Given the description of an element on the screen output the (x, y) to click on. 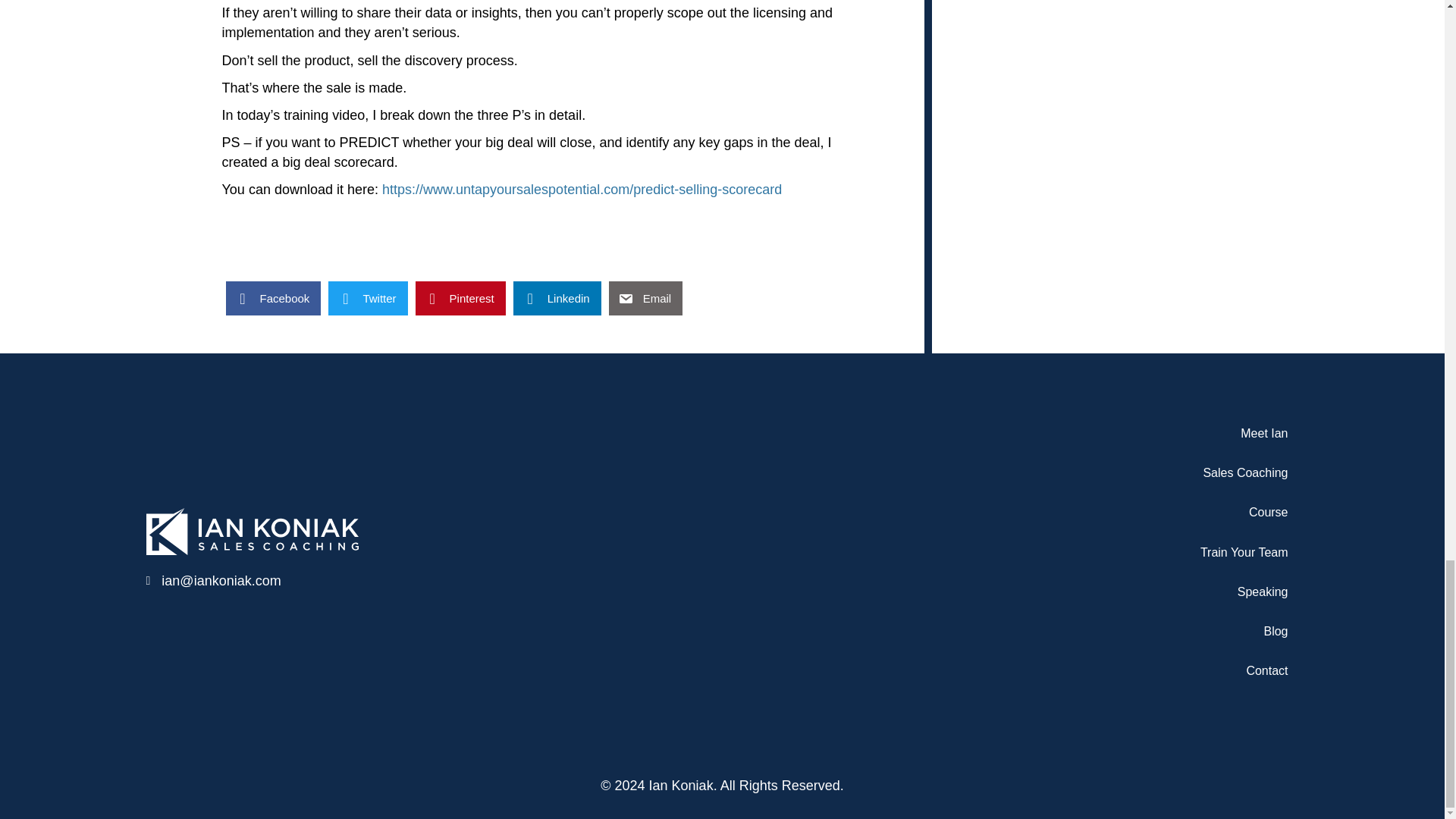
Twitter (368, 298)
Linkedin (557, 298)
Meet Ian (1055, 433)
Pinterest (459, 298)
IK Logo white (251, 531)
Email (645, 298)
Facebook (273, 298)
